Given the description of an element on the screen output the (x, y) to click on. 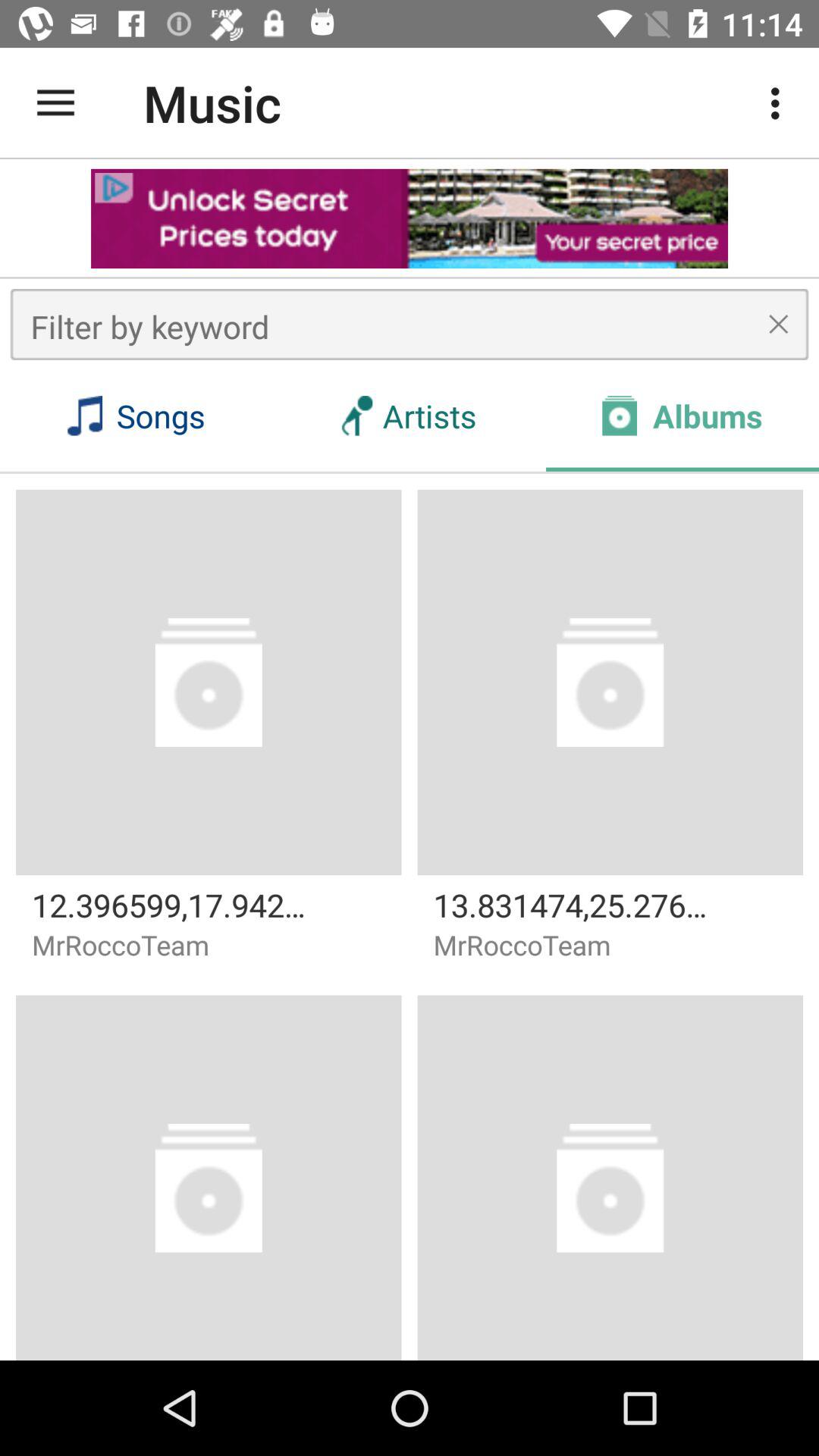
go to close (778, 324)
